Given the description of an element on the screen output the (x, y) to click on. 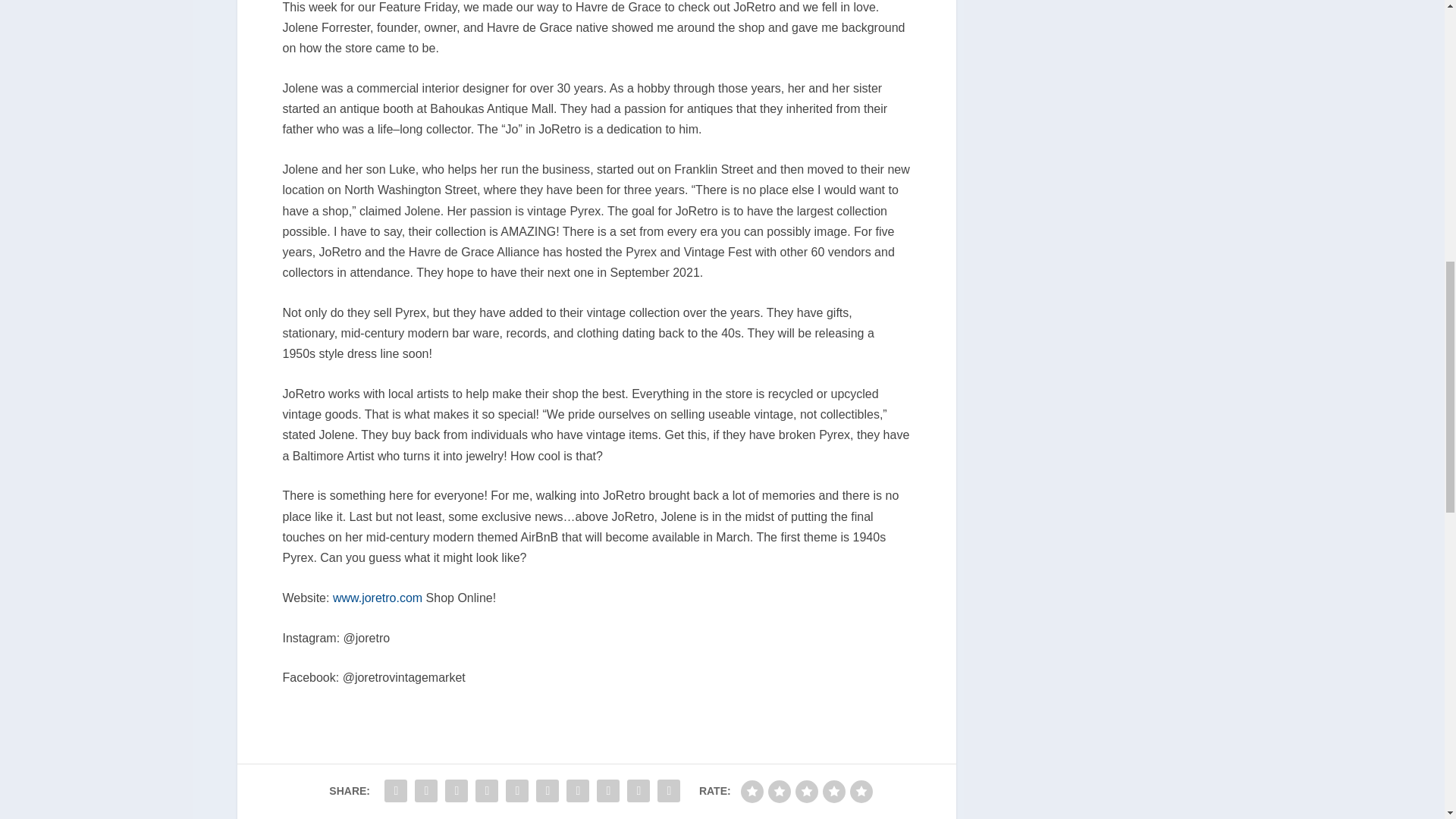
www.joretro.com (377, 597)
